Given the description of an element on the screen output the (x, y) to click on. 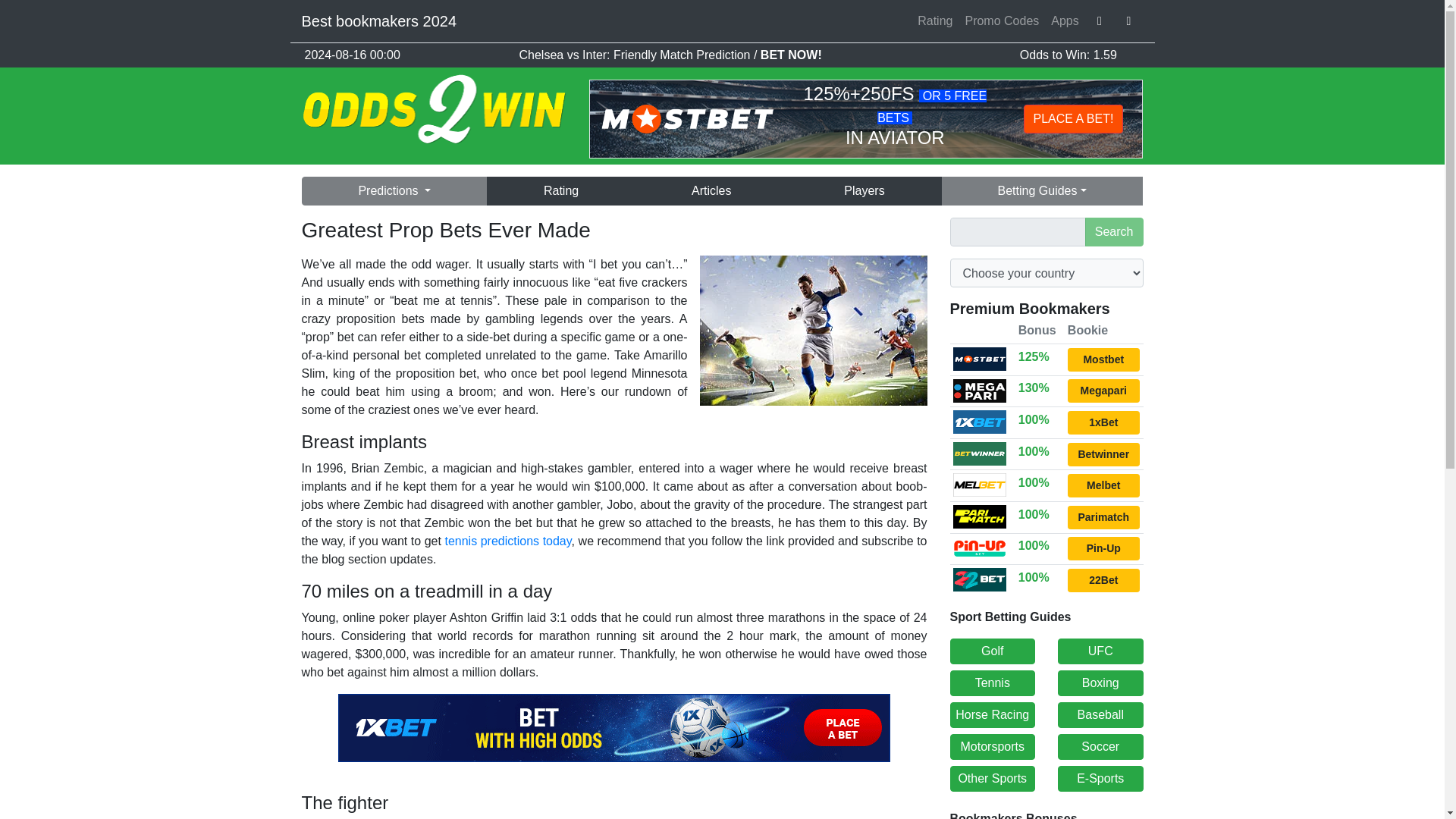
Promo code: ODDS2WIN (1103, 485)
Promo code: ODDS2WIN (1103, 390)
Best bookmakers 2024 (379, 20)
Rating (560, 190)
BET NOW! (791, 54)
Betting Guides (1041, 190)
Promo Codes (1001, 20)
Odds to Win: 1.59 (1068, 54)
Chelsea vs Inter: Friendly Match Prediction (635, 54)
Search (1113, 231)
